Given the description of an element on the screen output the (x, y) to click on. 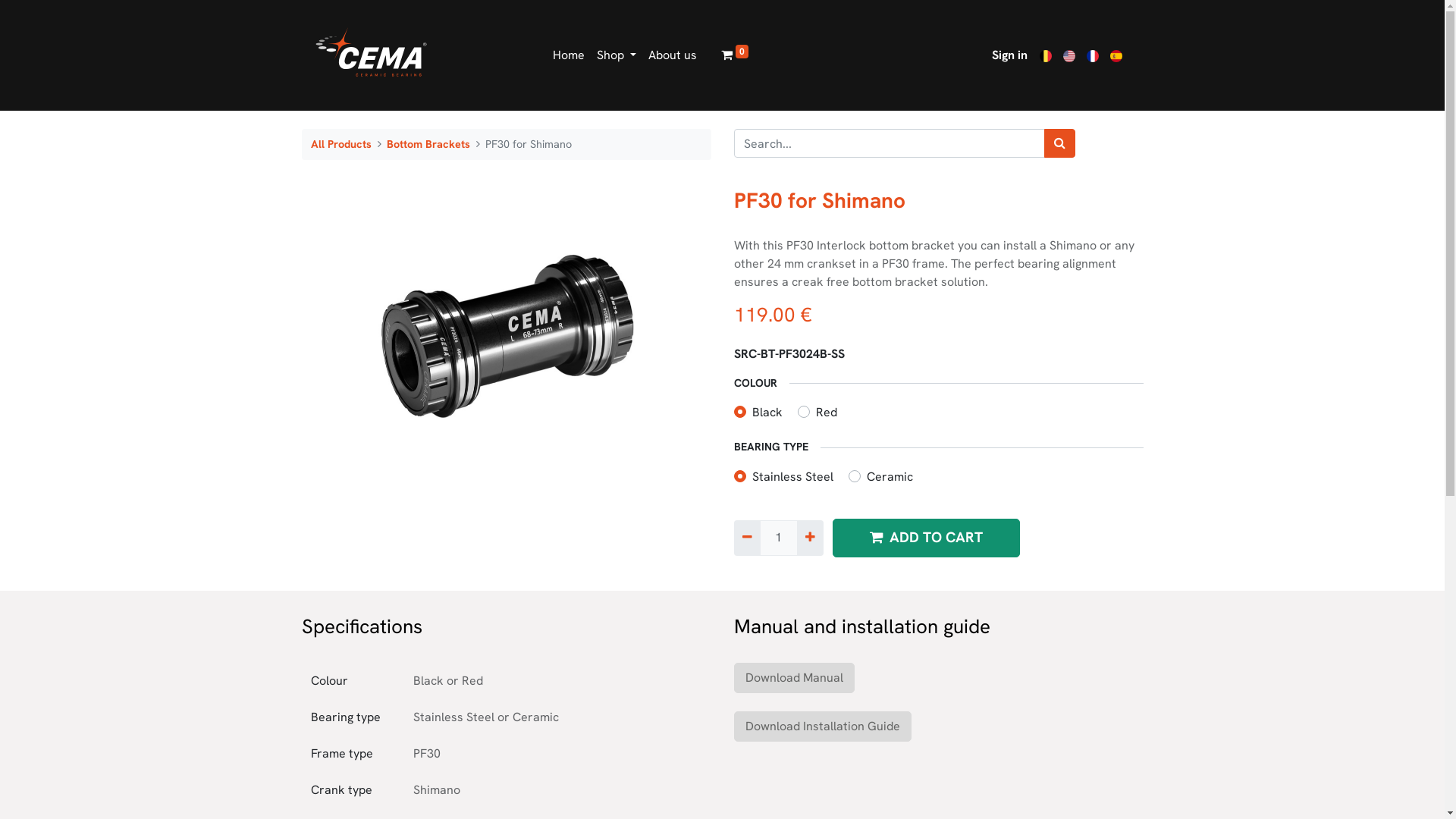
Search Element type: hover (1058, 142)
Add one Element type: hover (810, 537)
CEMA Bearing Element type: hover (371, 55)
0 Element type: text (734, 55)
Download Installation Guide Element type: text (822, 726)
ADD TO CART Element type: text (925, 537)
About us Element type: text (672, 55)
All Products Element type: text (340, 143)
Bottom Brackets Element type: text (428, 143)
Home Element type: text (568, 55)
Shop Element type: text (616, 55)
Remove one Element type: hover (747, 537)
Download Manual Element type: text (794, 677)
Sign in Element type: text (1009, 55)
